Given the description of an element on the screen output the (x, y) to click on. 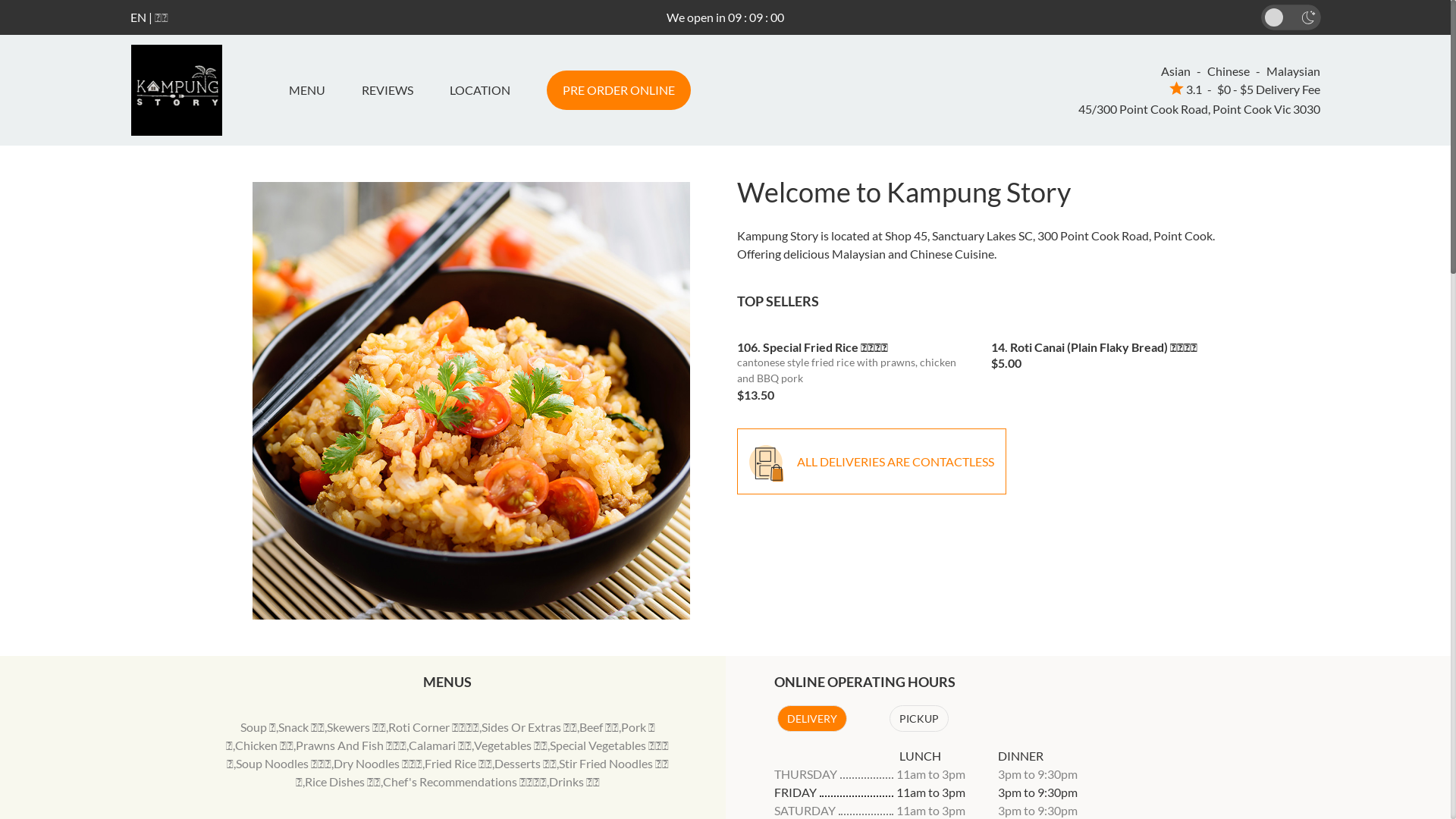
3.1 Element type: text (1185, 88)
PRE ORDER ONLINE Element type: text (618, 89)
DELIVERY Element type: text (811, 718)
REVIEWS Element type: text (386, 90)
LOCATION Element type: text (478, 90)
MENU Element type: text (312, 90)
EN Element type: text (138, 16)
PICKUP Element type: text (917, 718)
